Given the description of an element on the screen output the (x, y) to click on. 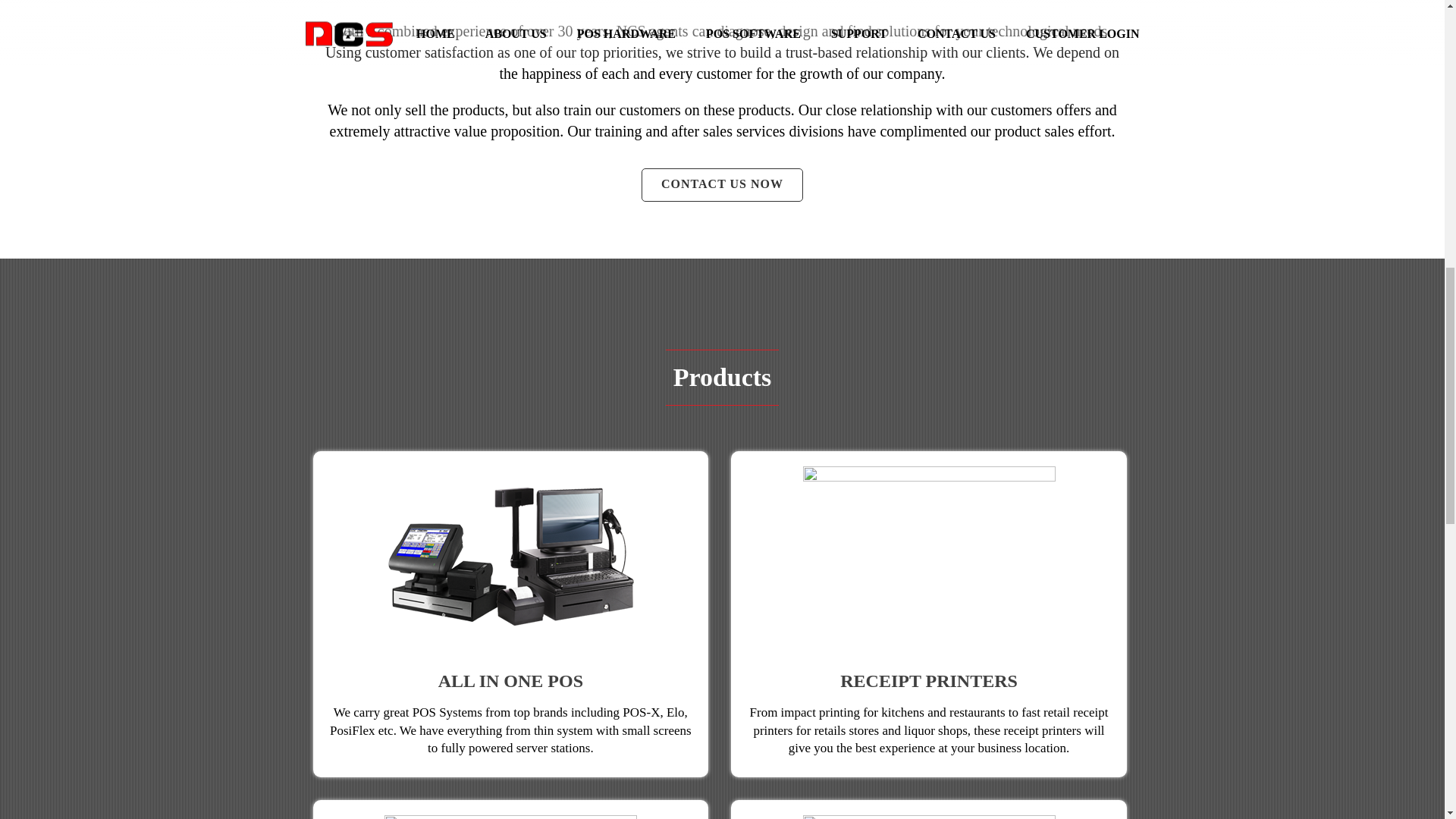
CONTACT US NOW (722, 184)
CONTACT US NOW (722, 184)
